Given the description of an element on the screen output the (x, y) to click on. 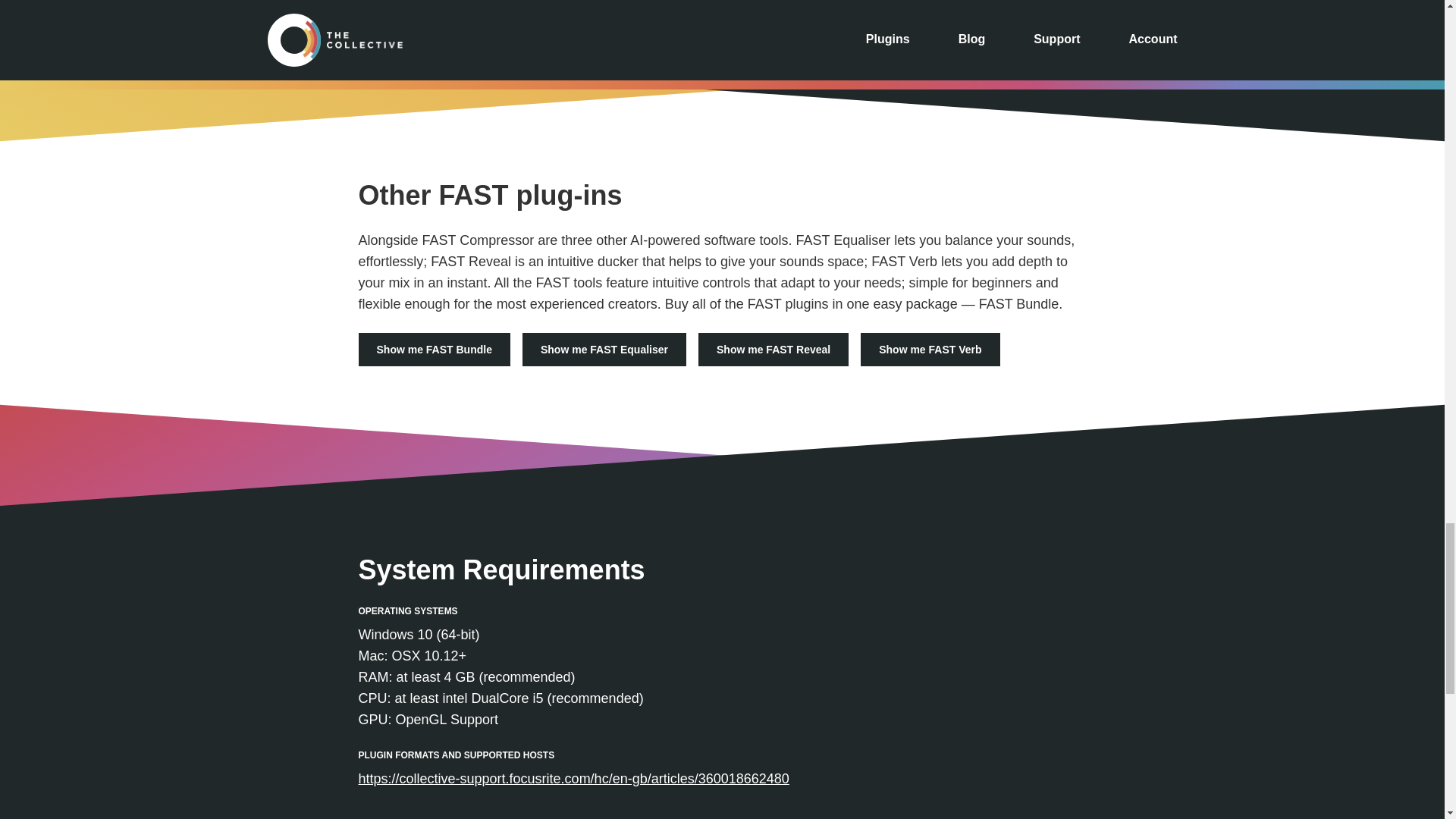
Show me FAST Reveal (773, 349)
Show me FAST Equaliser (603, 349)
Show me FAST Bundle (433, 349)
Show me FAST Verb (929, 349)
